Given the description of an element on the screen output the (x, y) to click on. 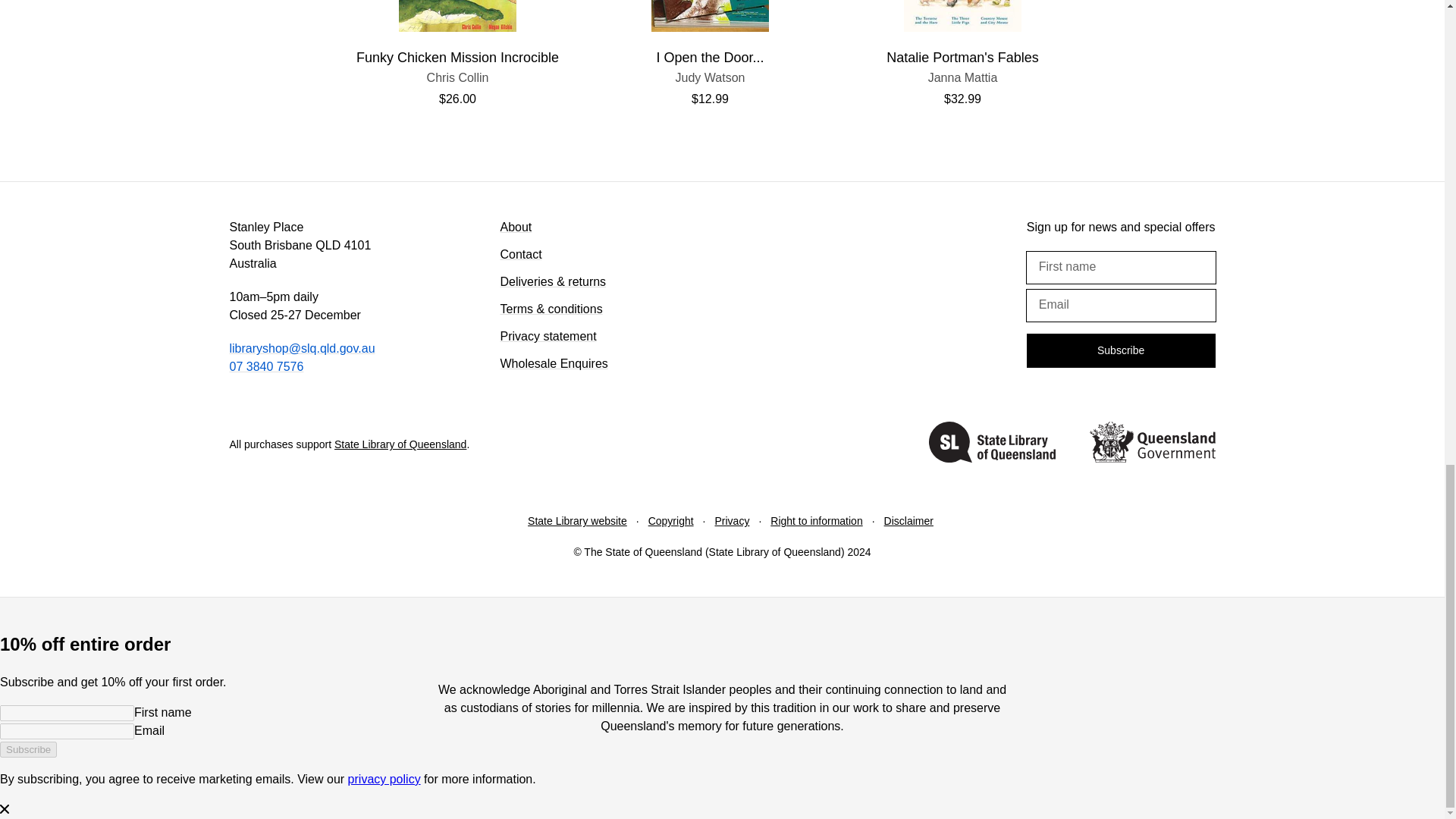
Go to Queensland State Library homepage (992, 444)
tel:07 3840 7576 (457, 77)
Go to Queensland Government homepage (265, 366)
